Given the description of an element on the screen output the (x, y) to click on. 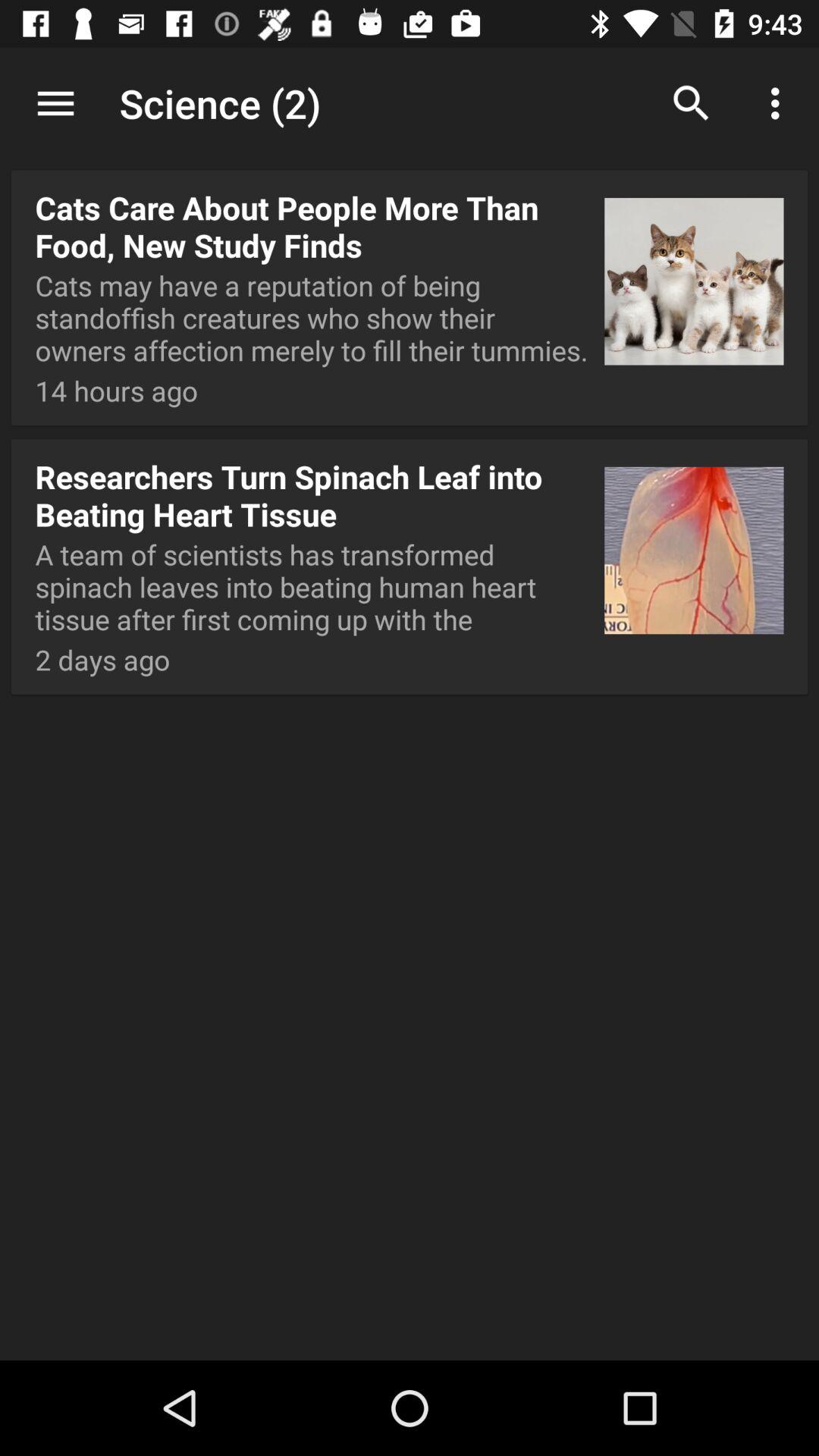
press icon above cats care about (55, 103)
